Given the description of an element on the screen output the (x, y) to click on. 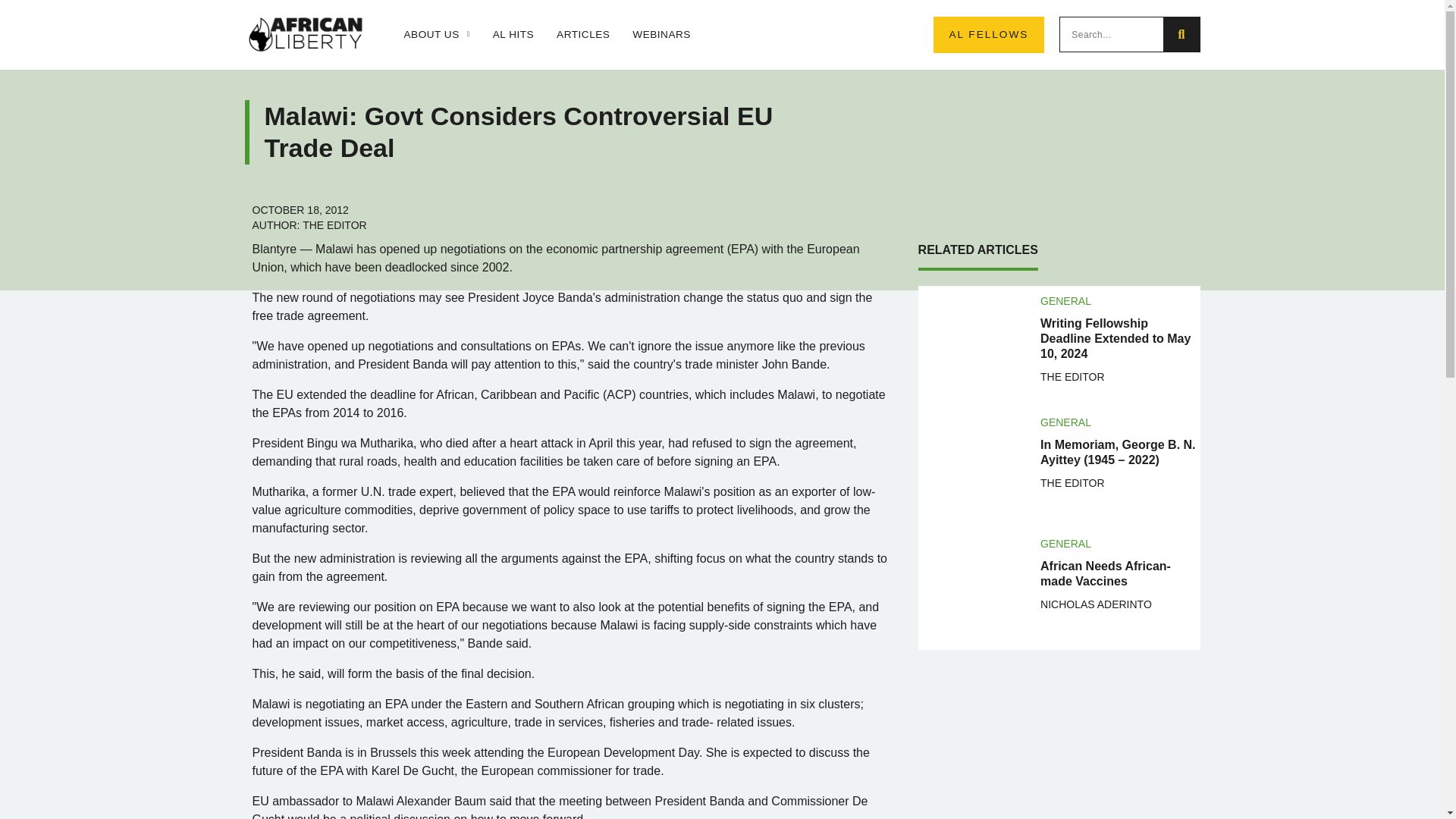
WEBINARS (660, 34)
AL FELLOWS (988, 34)
ARTICLES (583, 34)
ABOUT US (435, 34)
AL HITS (513, 34)
